Given the description of an element on the screen output the (x, y) to click on. 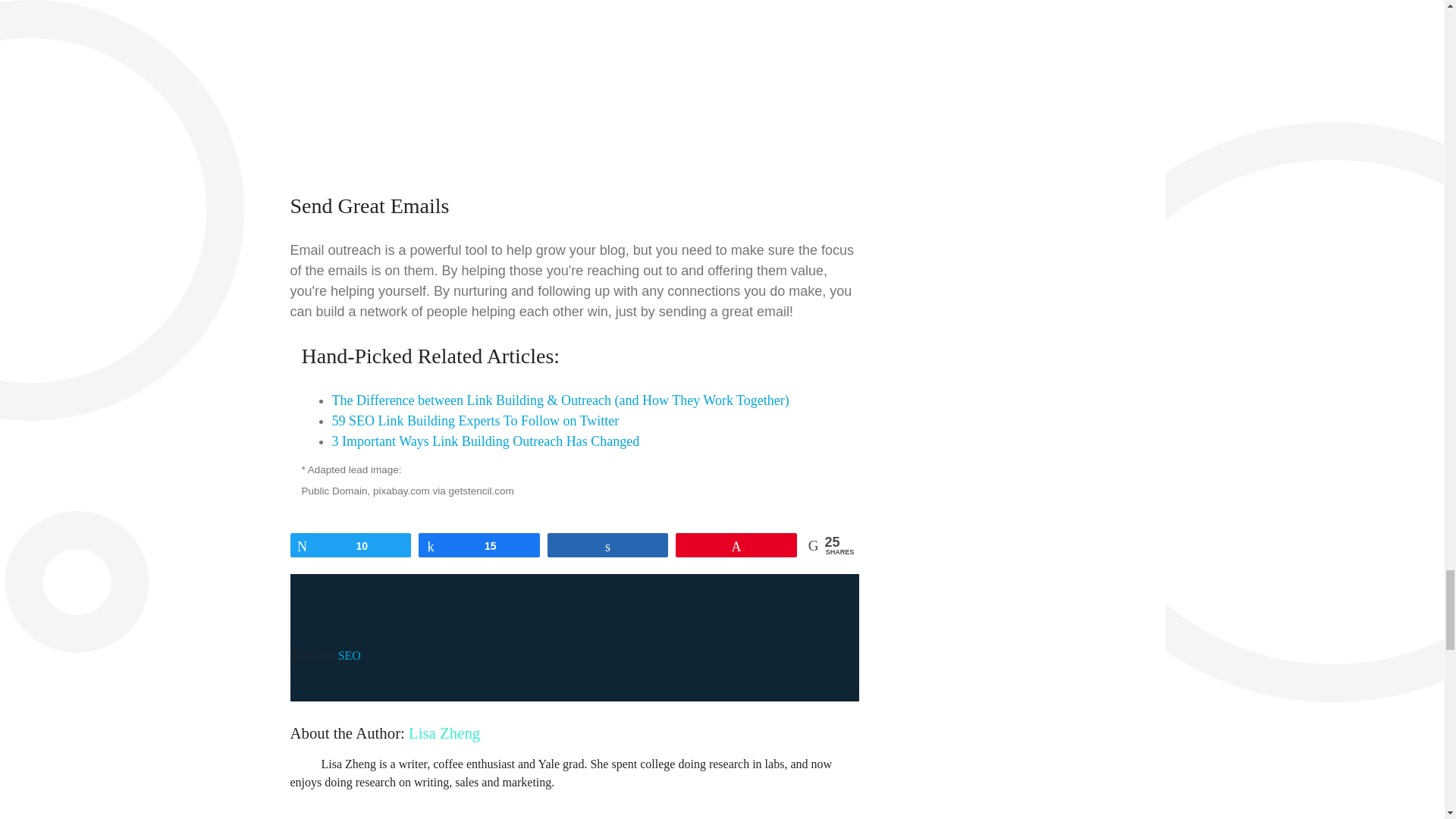
15 (478, 544)
Lisa Zheng (444, 732)
SEO (349, 655)
59 SEO Link Building Experts To Follow on Twitter (475, 420)
3 Important Ways Link Building Outreach Has Changed (485, 441)
10 (350, 544)
